Given the description of an element on the screen output the (x, y) to click on. 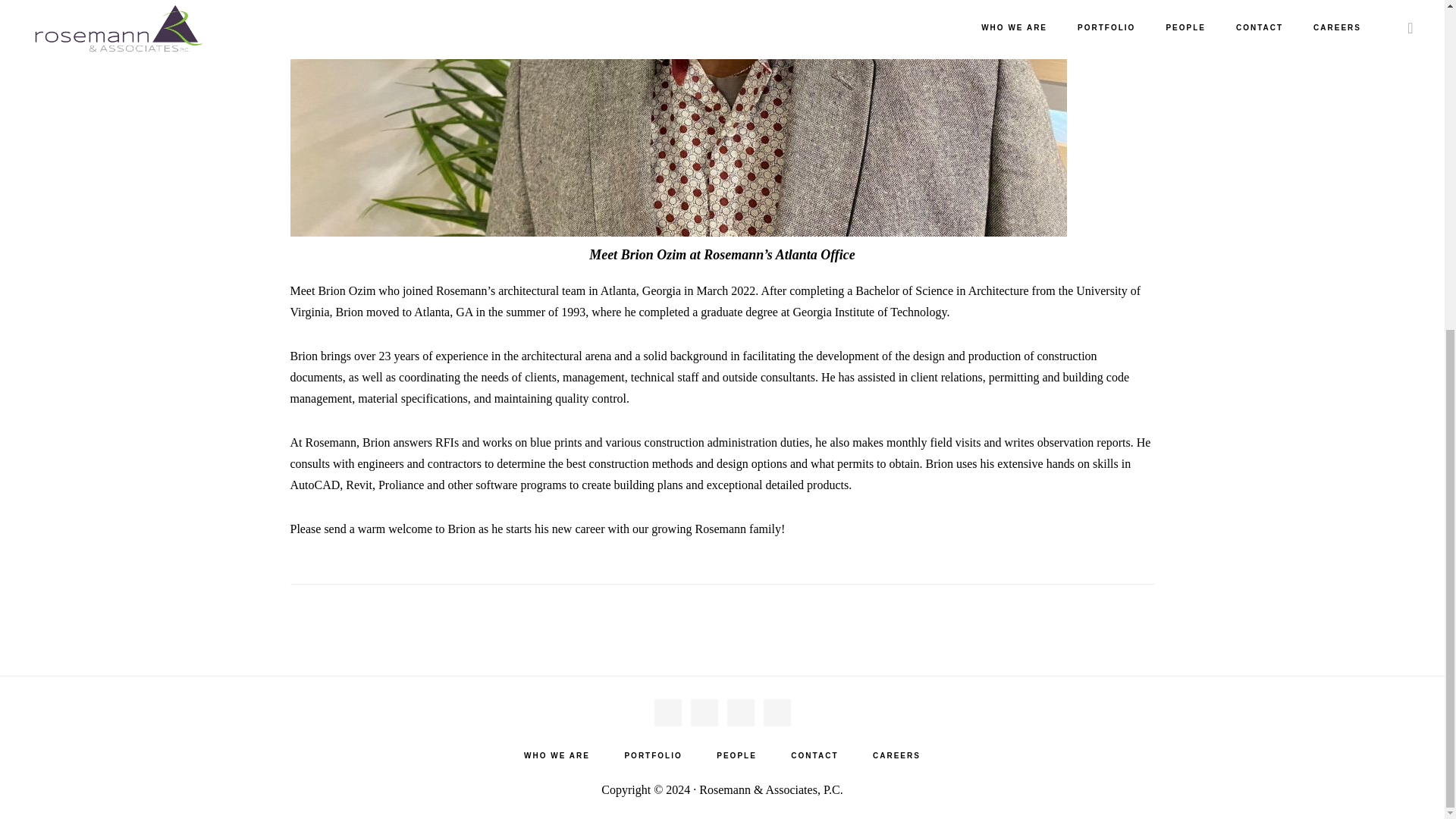
PEOPLE (736, 756)
PORTFOLIO (652, 756)
WHO WE ARE (556, 756)
CAREERS (896, 756)
CONTACT (814, 756)
